Given the description of an element on the screen output the (x, y) to click on. 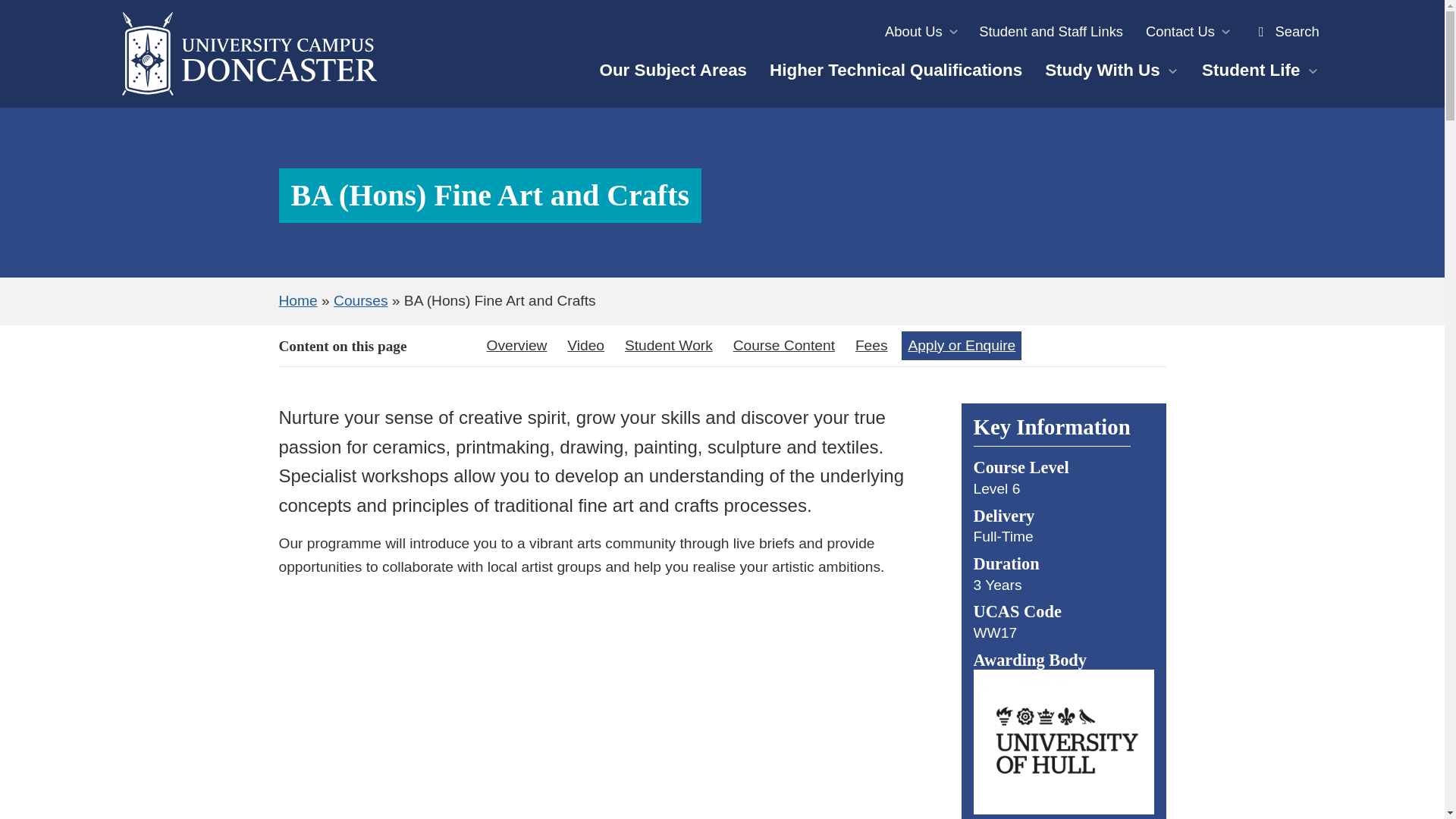
Our Subject Areas (673, 70)
Student Life (1259, 70)
Search (1285, 31)
Contact Us (1187, 31)
Study With Us (1111, 70)
Student and Staff Links (1050, 31)
About Us (920, 31)
Higher Technical Qualifications (896, 70)
